Given the description of an element on the screen output the (x, y) to click on. 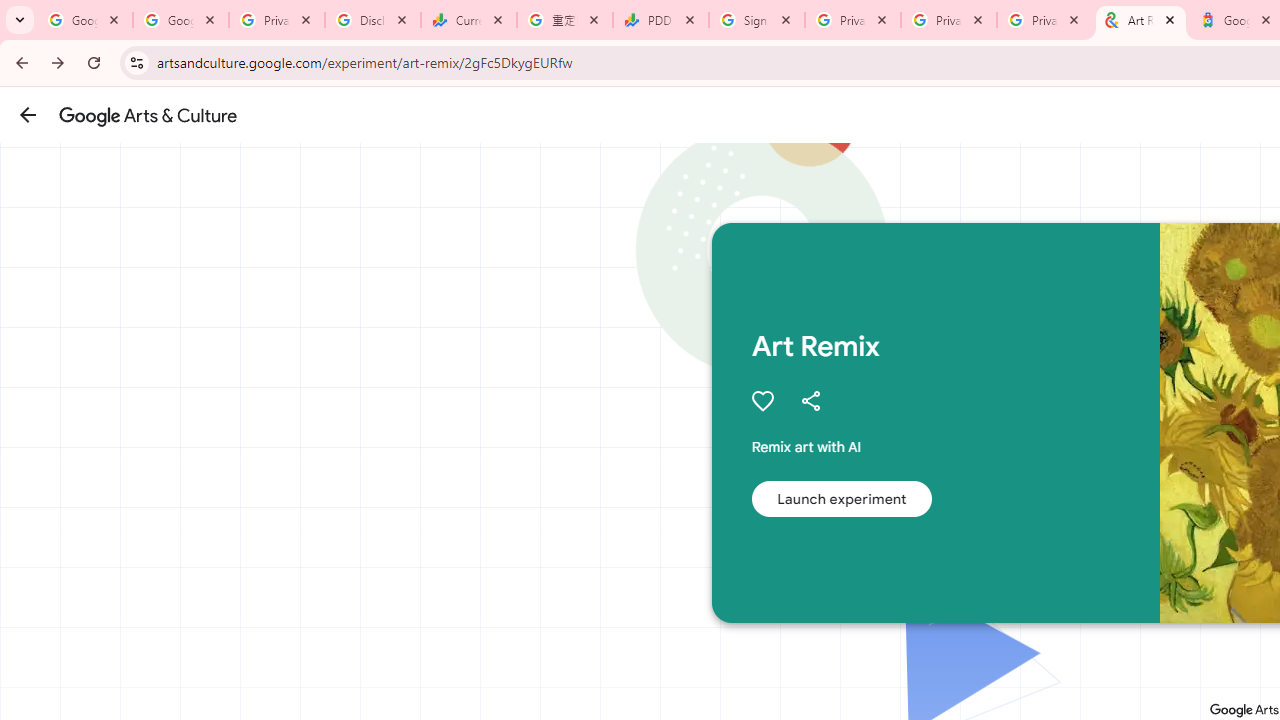
Sign in - Google Accounts (757, 20)
Privacy Checkup (949, 20)
Privacy Checkup (1045, 20)
Launch experiment (841, 498)
